Given the description of an element on the screen output the (x, y) to click on. 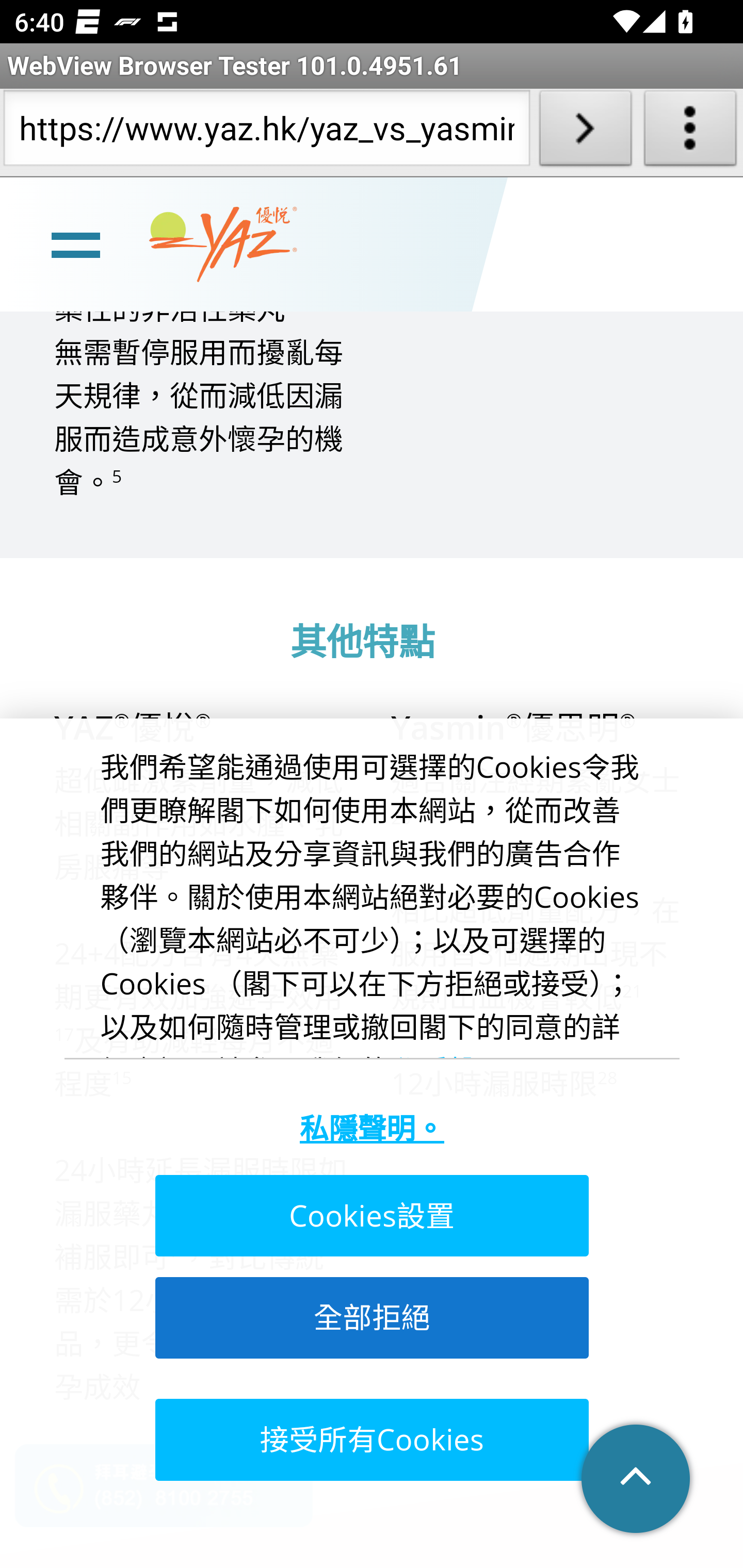
Load URL (585, 132)
About WebView (690, 132)
www.yaz (222, 244)
line Toggle burger menu (75, 245)
Cookies設置 (370, 1217)
全部拒絕 (370, 1318)
接受所有Cookies (370, 1439)
 (636, 1480)
